Given the description of an element on the screen output the (x, y) to click on. 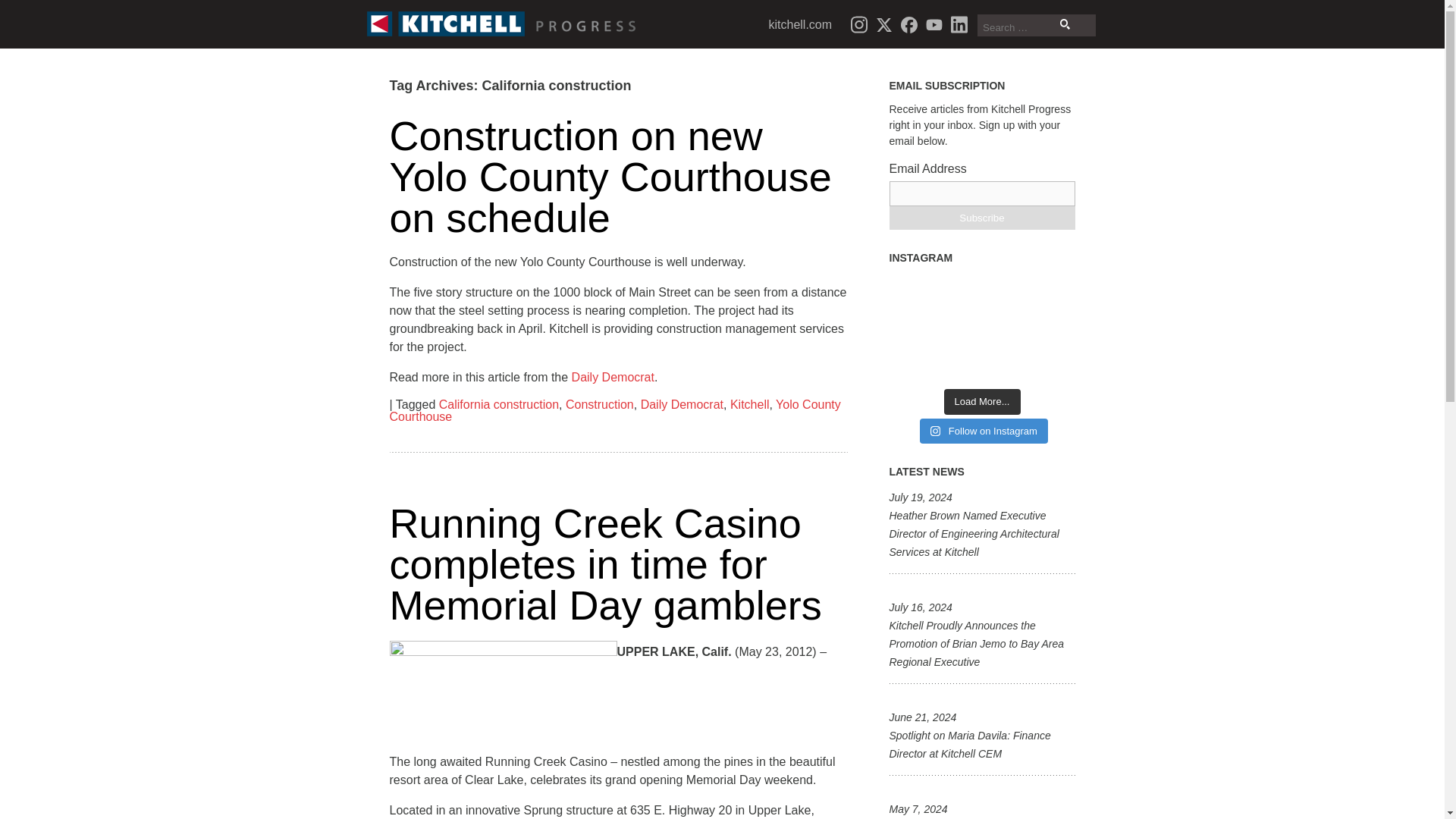
Load More... (981, 401)
Search (1064, 23)
Follow on Instagram (984, 431)
Construction (599, 404)
Subscribe (981, 218)
Subscribe (981, 218)
Running Creek ext (503, 696)
